Given the description of an element on the screen output the (x, y) to click on. 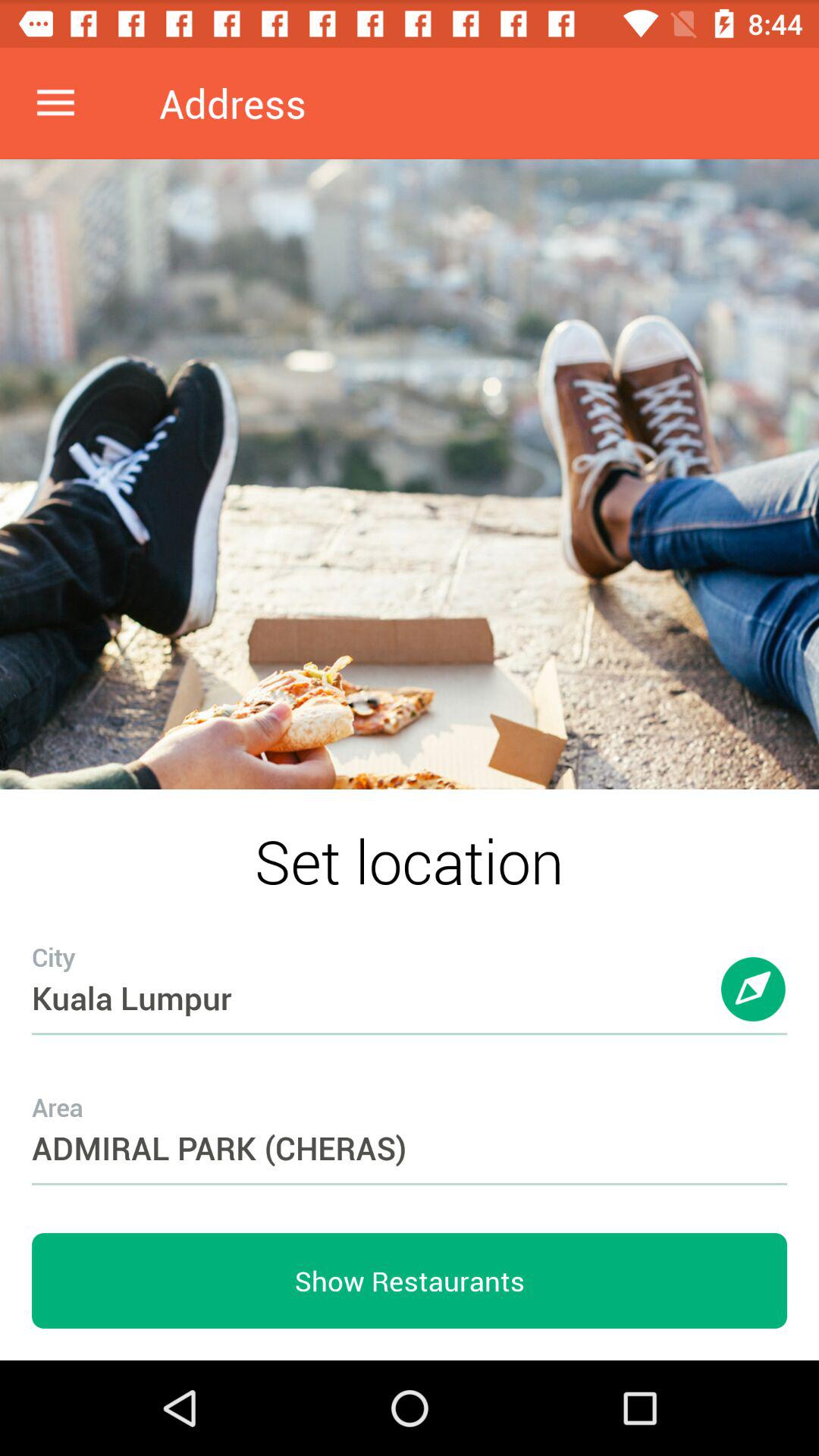
choose item above admiral park (cheras) item (754, 1004)
